Given the description of an element on the screen output the (x, y) to click on. 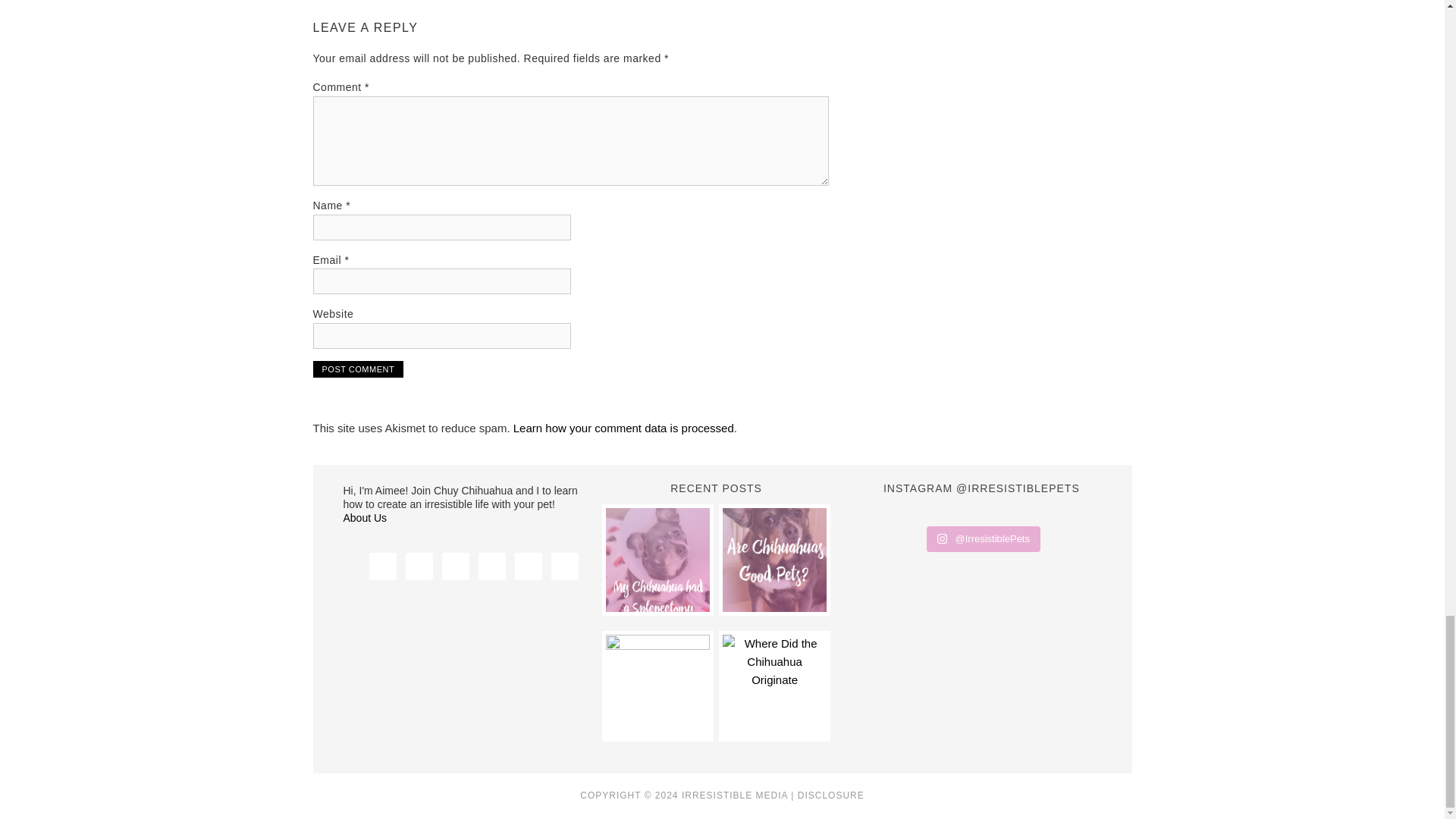
Are Chihuahuas Good Pets? (773, 558)
Learn how your comment data is processed (623, 427)
Where Did the Chihuahua Originate? (773, 685)
My Chihuahua Had a Splenectomy (657, 558)
Post Comment (358, 369)
Post Comment (358, 369)
